Given the description of an element on the screen output the (x, y) to click on. 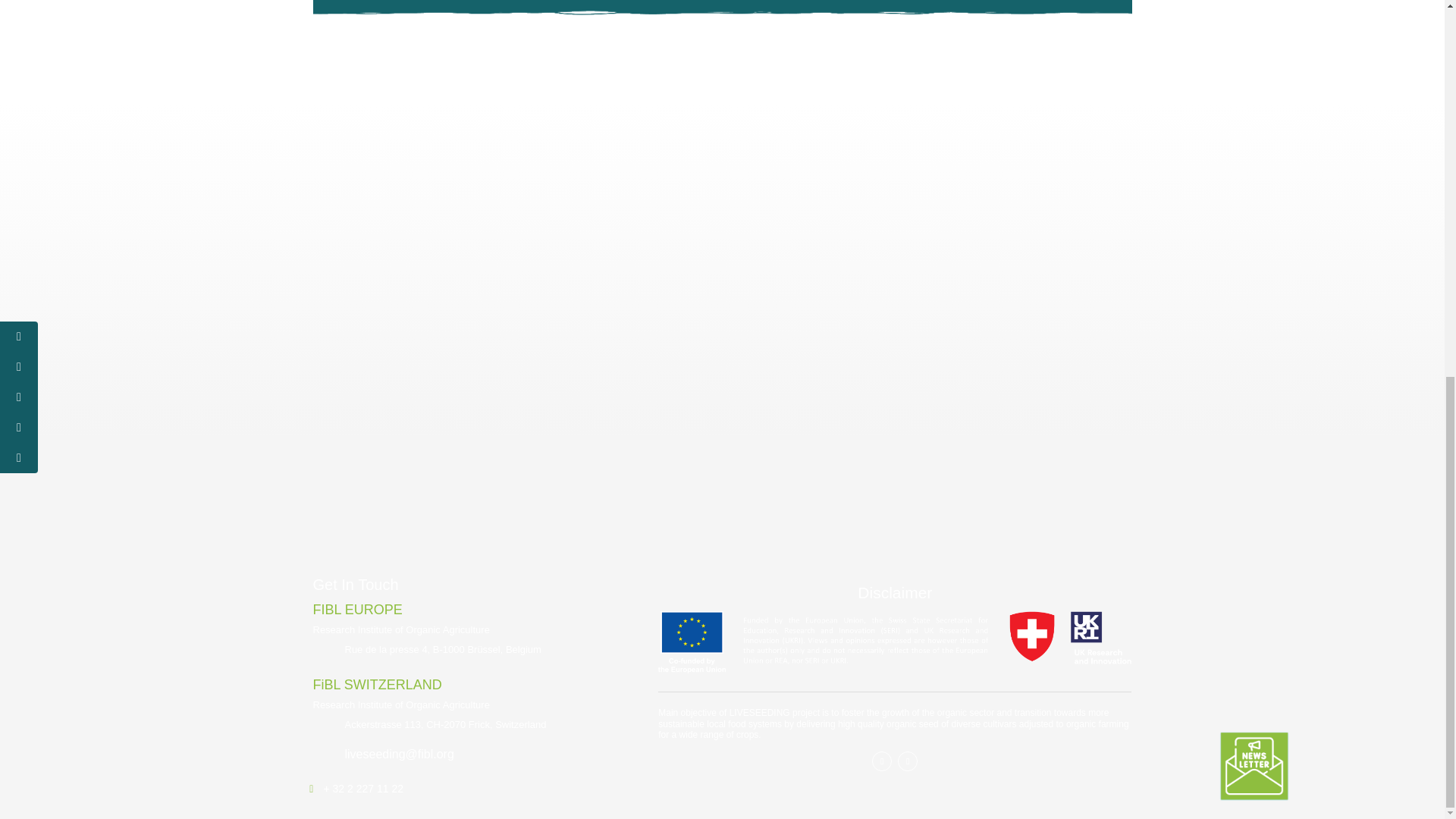
Follow on Twitter (907, 761)
lenta3 (894, 641)
Follow on Facebook (881, 761)
